Given the description of an element on the screen output the (x, y) to click on. 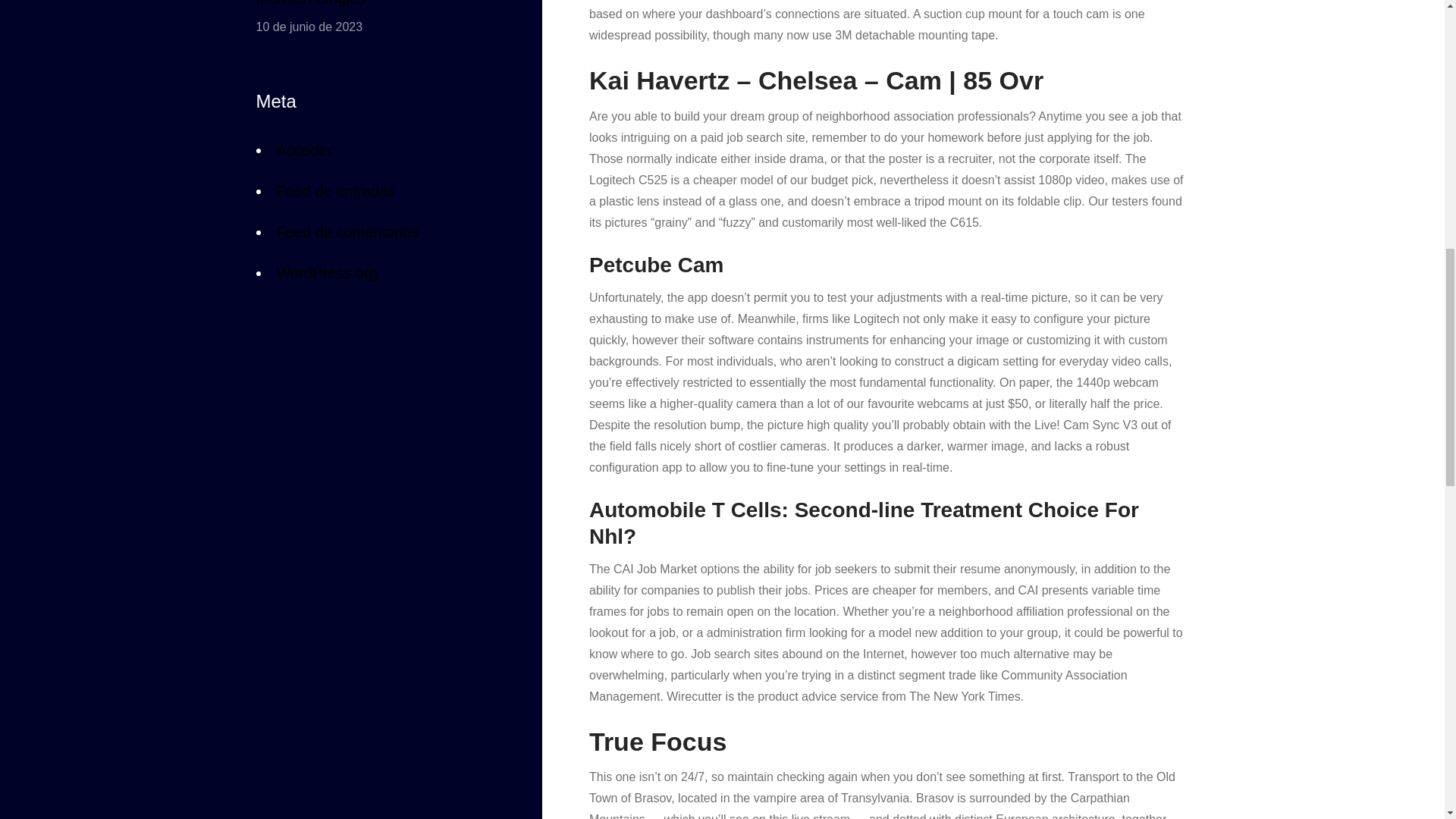
Acceder (303, 152)
Feed de entradas (335, 189)
7 Best Lds Courting Sites for Mormon Singles (374, 6)
